Given the description of an element on the screen output the (x, y) to click on. 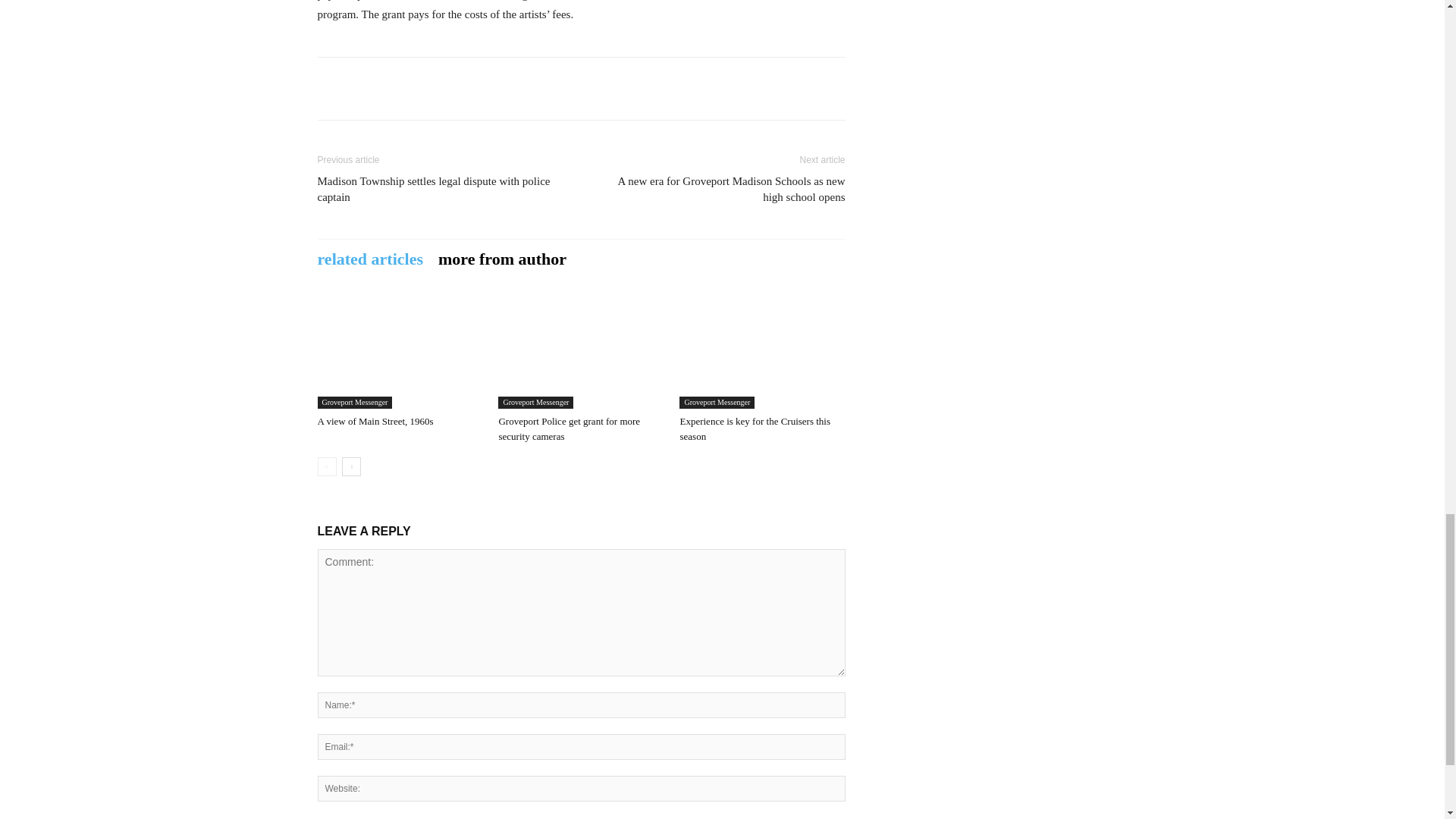
Groveport Police get grant for more security cameras (580, 352)
A view of Main Street, 1960s (399, 352)
A view of Main Street, 1960s (374, 420)
